Given the description of an element on the screen output the (x, y) to click on. 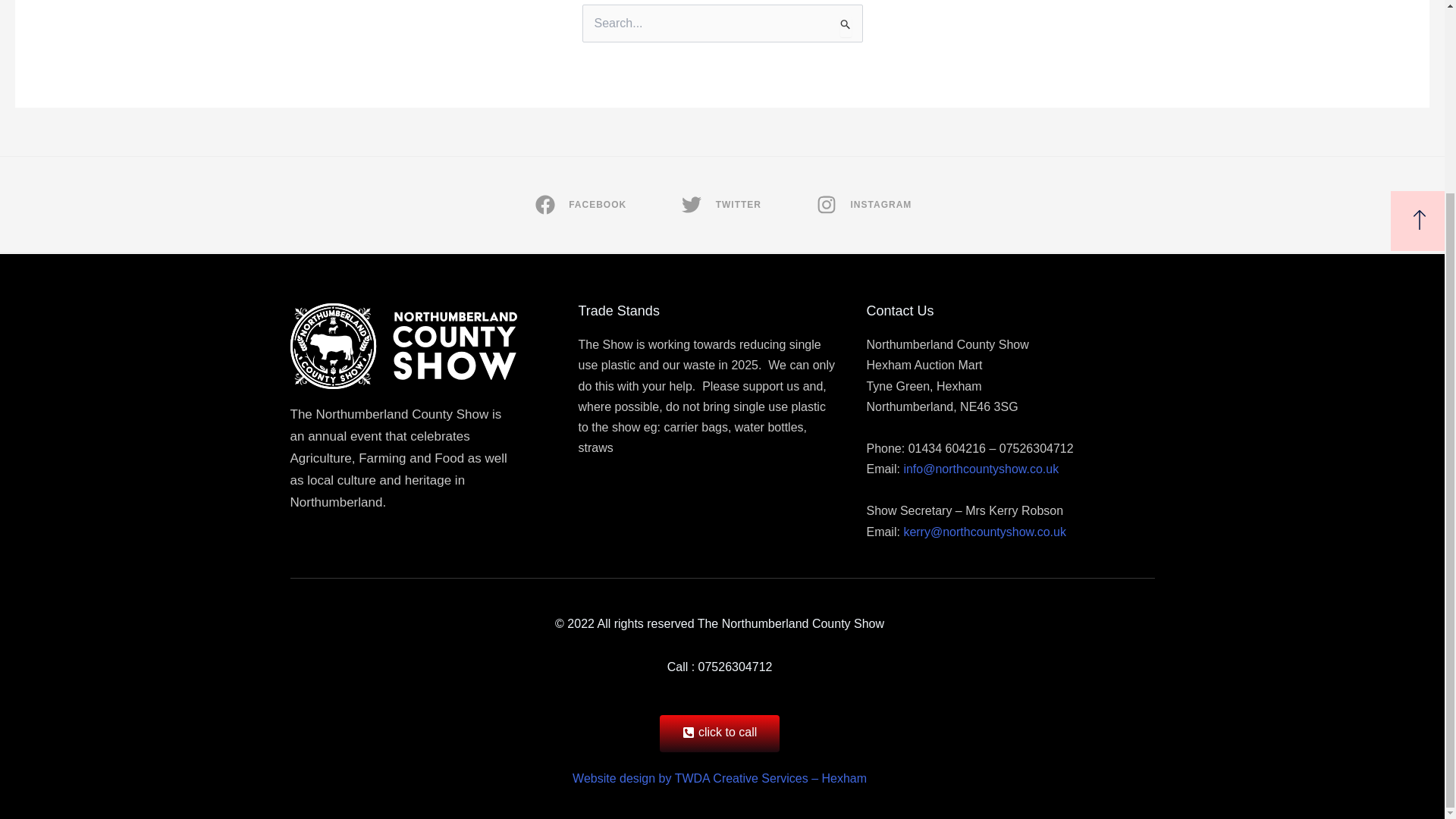
TWITTER (720, 204)
click to call (718, 733)
INSTAGRAM (862, 204)
FACEBOOK (579, 204)
